Given the description of an element on the screen output the (x, y) to click on. 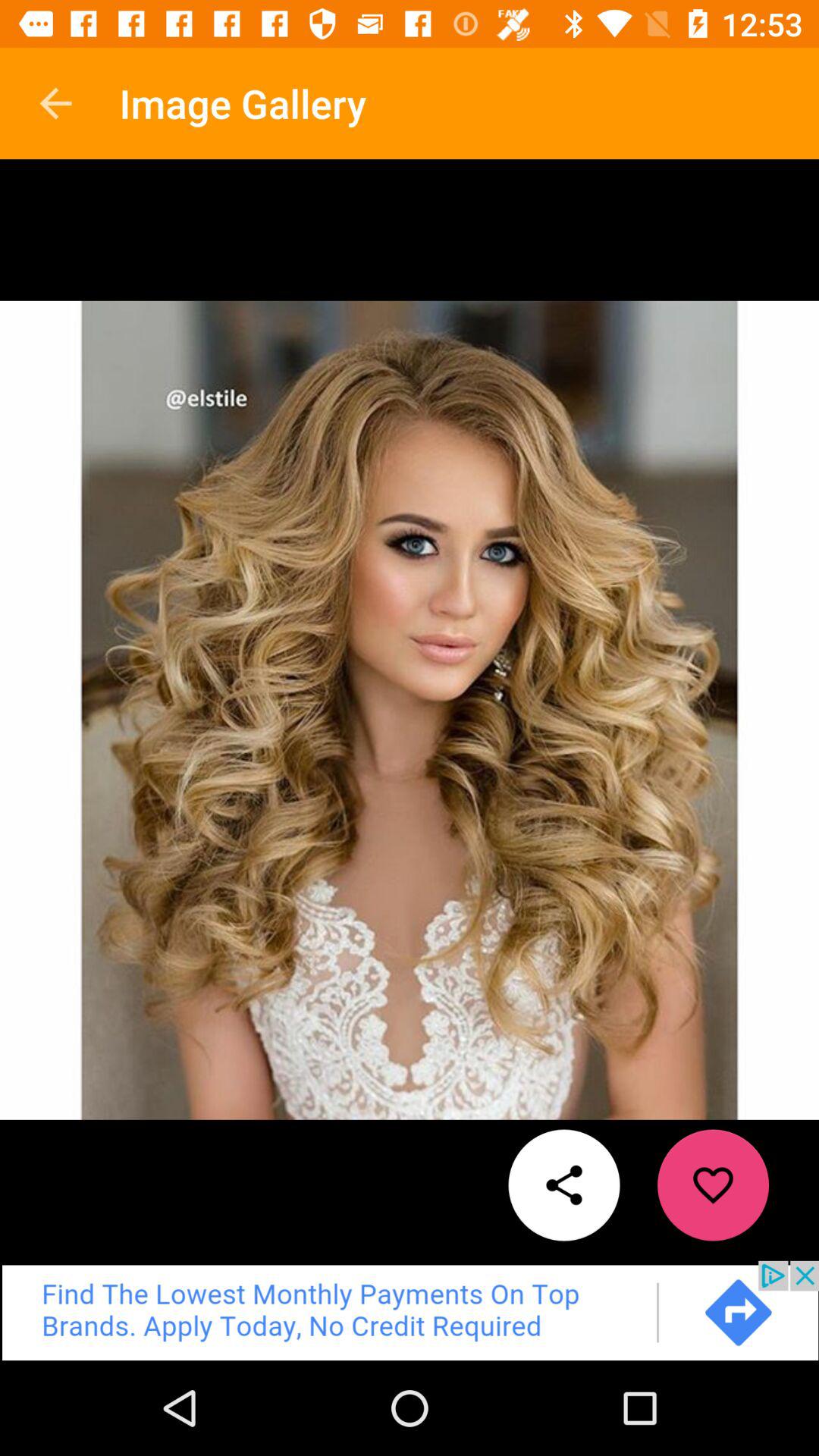
advertisement (409, 1310)
